Given the description of an element on the screen output the (x, y) to click on. 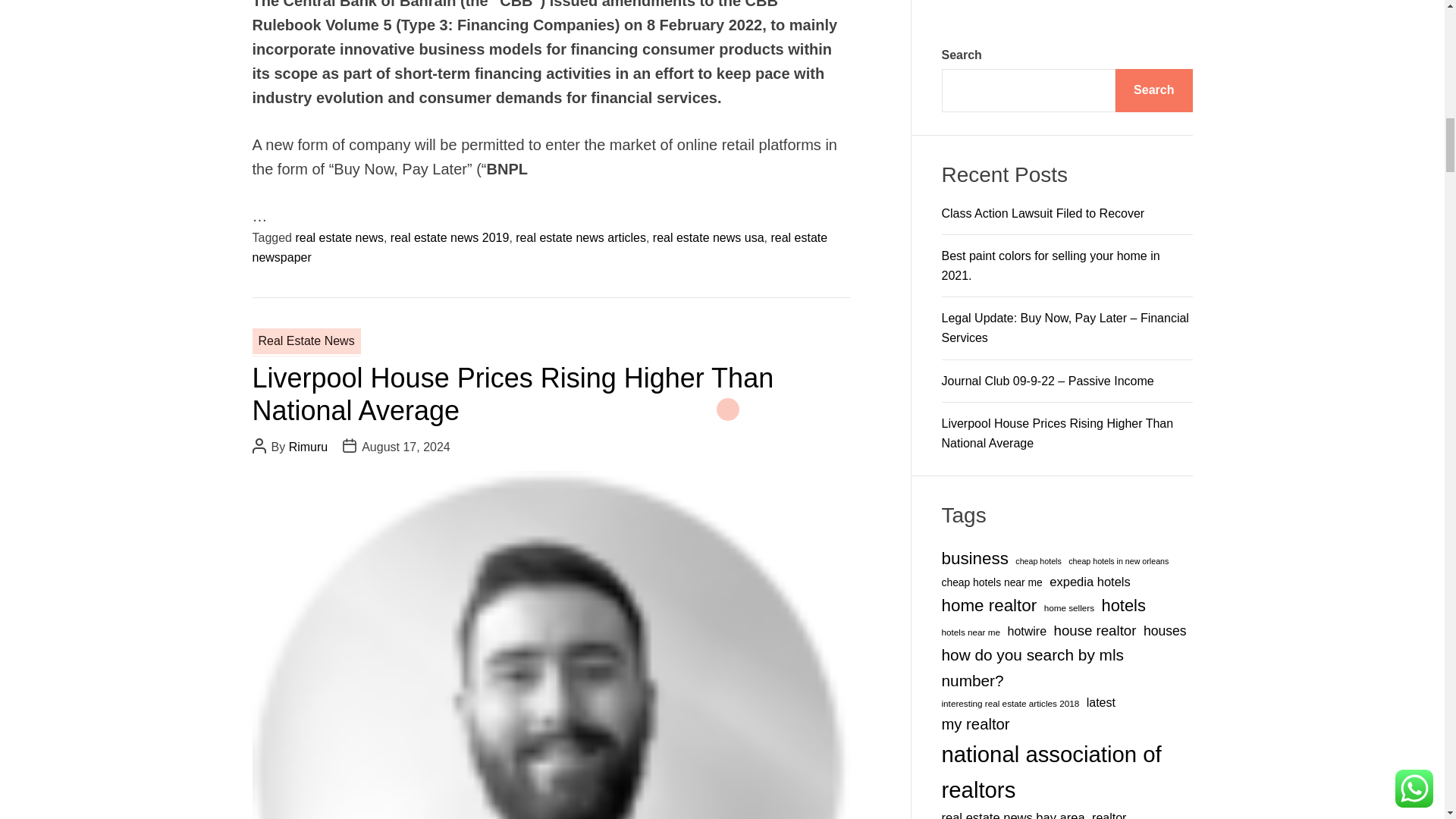
real estate news usa (708, 237)
real estate news 2019 (449, 237)
real estate news articles (580, 237)
real estate news (339, 237)
Liverpool House Prices Rising Higher Than National Average (512, 393)
Real Estate News (305, 340)
real estate newspaper (539, 246)
Rimuru (308, 446)
